Given the description of an element on the screen output the (x, y) to click on. 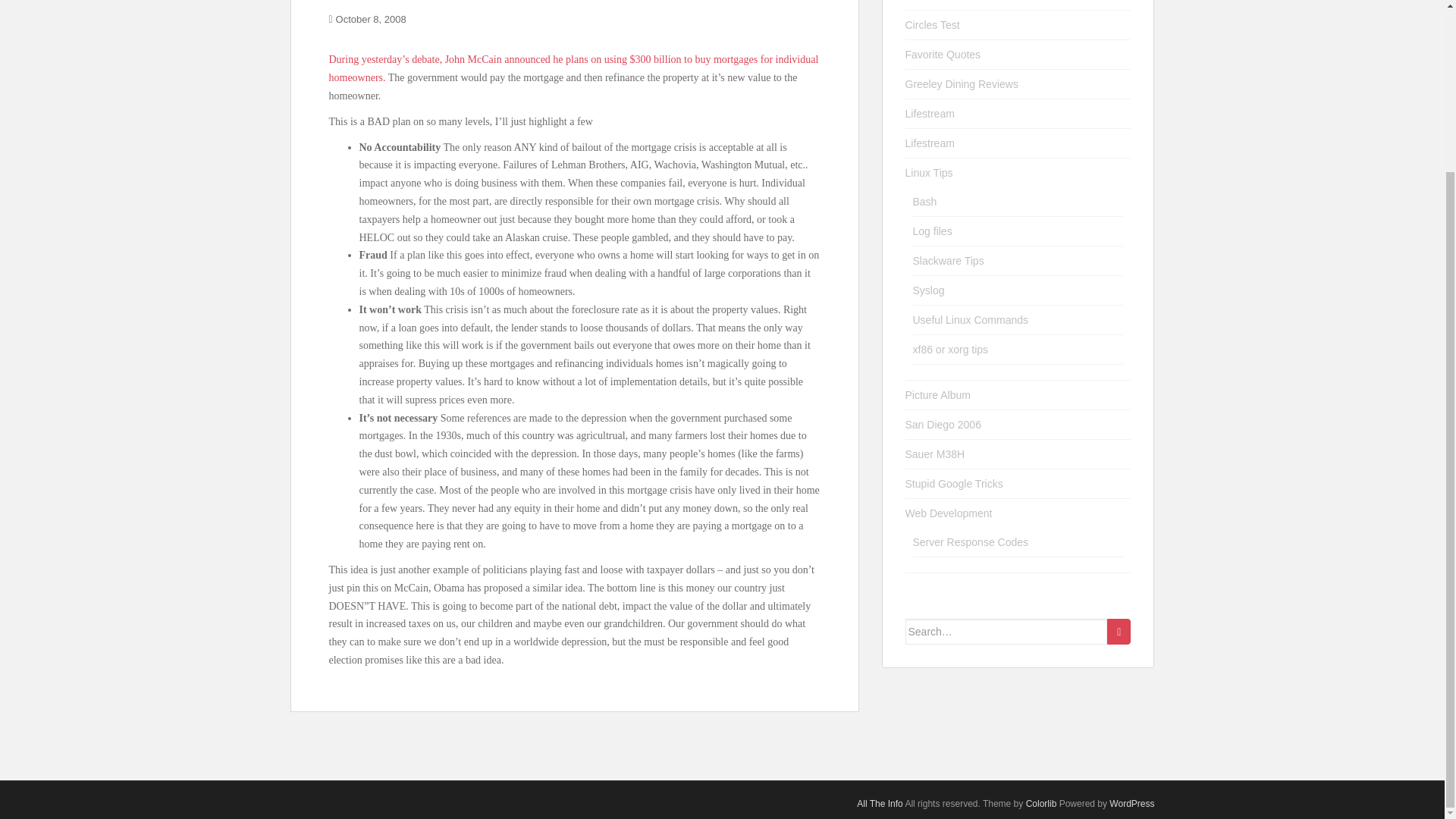
xf86 or xorg tips (950, 349)
Search for: (1006, 631)
Car hits the house (948, 0)
Sauer M38H (935, 453)
Server Response Codes (970, 541)
WordPress (1131, 803)
Stupid Google Tricks (954, 483)
Syslog (928, 290)
Circles Test (932, 24)
Favorite Quotes (943, 54)
